Given the description of an element on the screen output the (x, y) to click on. 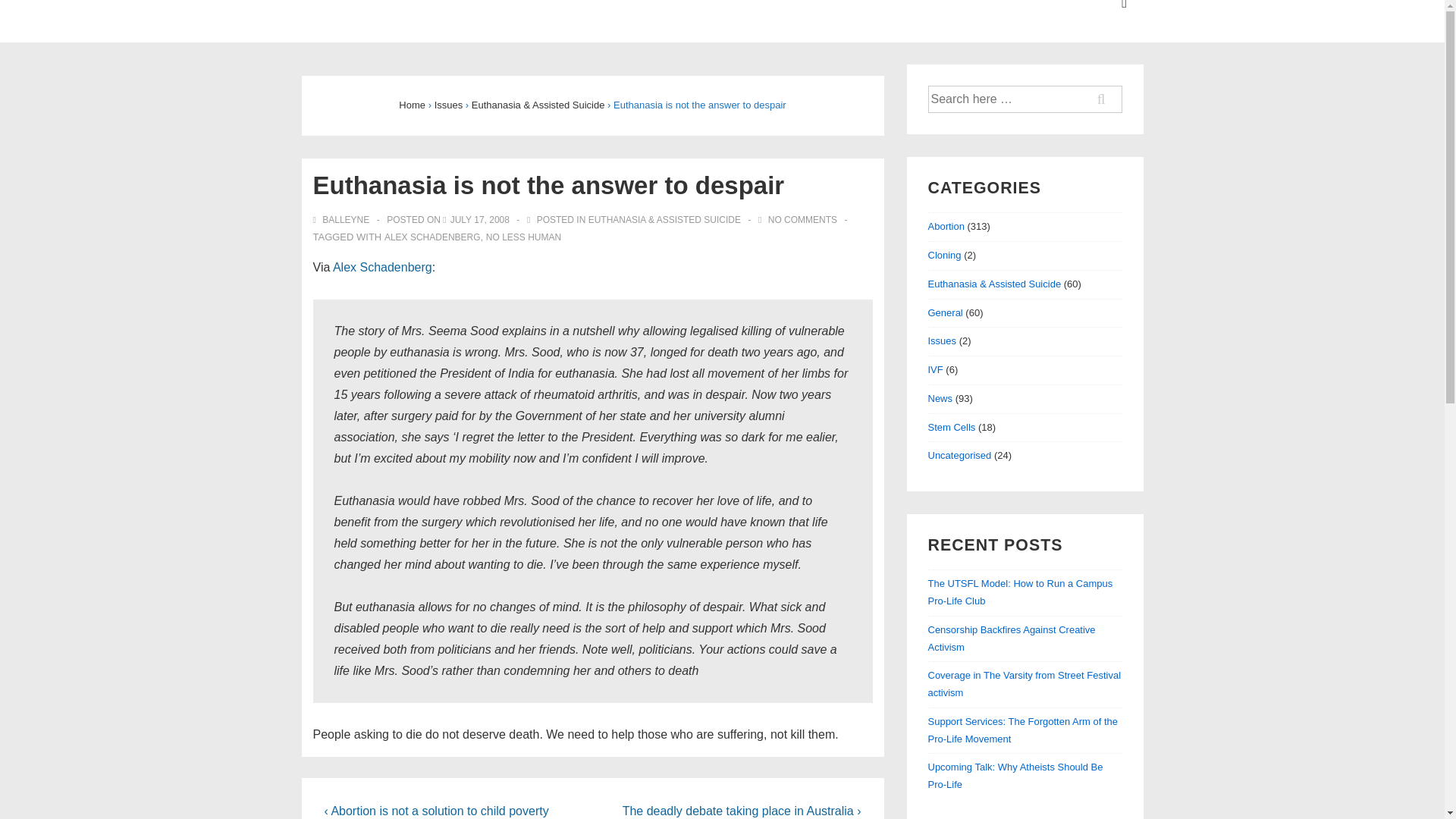
General (945, 312)
Censorship Backfires Against Creative Activism (1012, 638)
Coverage in The Varsity from Street Festival activism (1024, 683)
JULY 17, 2008 (479, 219)
IVF (935, 369)
Home (411, 104)
ALEX SCHADENBERG (432, 236)
NO COMMENTS (802, 219)
The UTSFL Model: How to Run a Campus Pro-Life Club (1020, 592)
Cloning (944, 255)
